Given the description of an element on the screen output the (x, y) to click on. 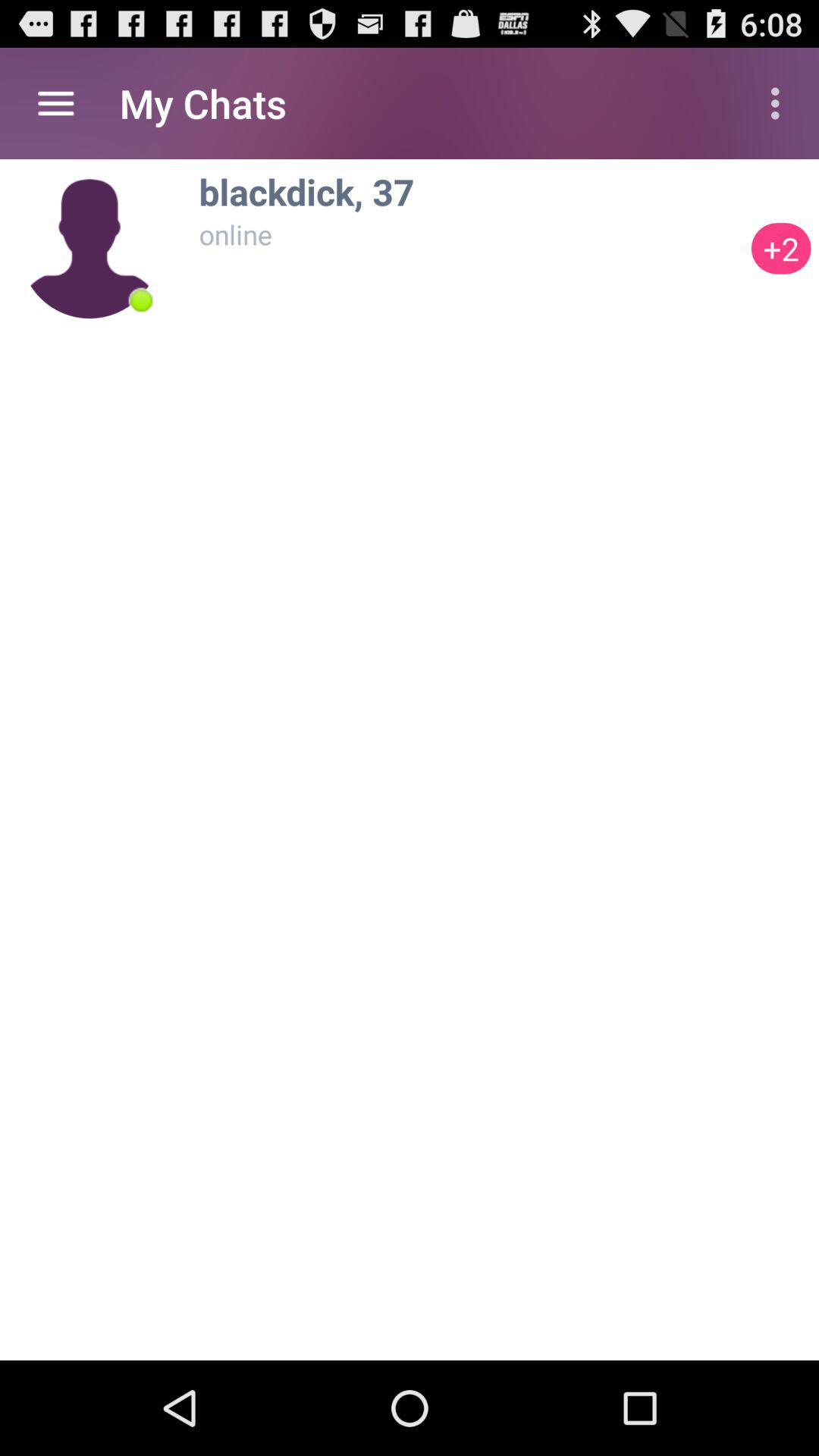
turn on item above the online icon (471, 191)
